Given the description of an element on the screen output the (x, y) to click on. 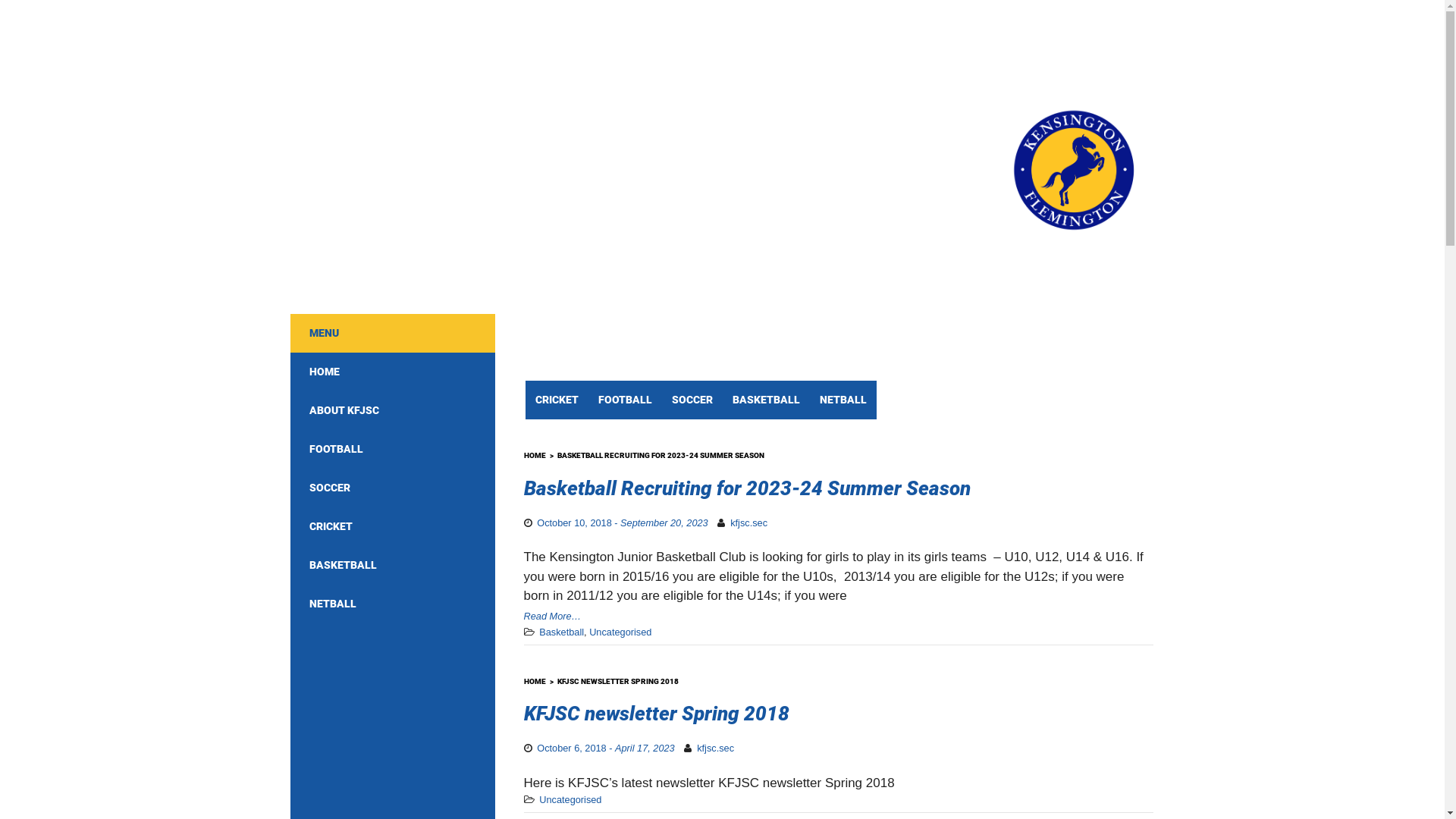
CRICKET Element type: text (391, 526)
BASKETBALL Element type: text (391, 565)
October 10, 2018 - September 20, 2023 Element type: text (621, 522)
Basketball Element type: text (561, 631)
kfjsc.sec Element type: text (715, 747)
Uncategorised Element type: text (620, 631)
HOME Element type: text (391, 371)
CRICKET Element type: text (555, 399)
October 6, 2018 - April 17, 2023 Element type: text (605, 747)
ABOUT KFJSC Element type: text (391, 410)
Basketball Recruiting for 2023-24 Summer Season Element type: text (746, 487)
FOOTBALL Element type: text (625, 399)
SOCCER Element type: text (691, 399)
FOOTBALL Element type: text (391, 448)
BASKETBALL Element type: text (765, 399)
KFJSC newsletter Spring 2018 Element type: text (655, 713)
NETBALL Element type: text (842, 399)
kfjsc.sec Element type: text (748, 522)
HOME Element type: text (539, 681)
HOME Element type: text (539, 455)
NETBALL Element type: text (391, 603)
SOCCER Element type: text (391, 487)
Uncategorised Element type: text (570, 799)
